Given the description of an element on the screen output the (x, y) to click on. 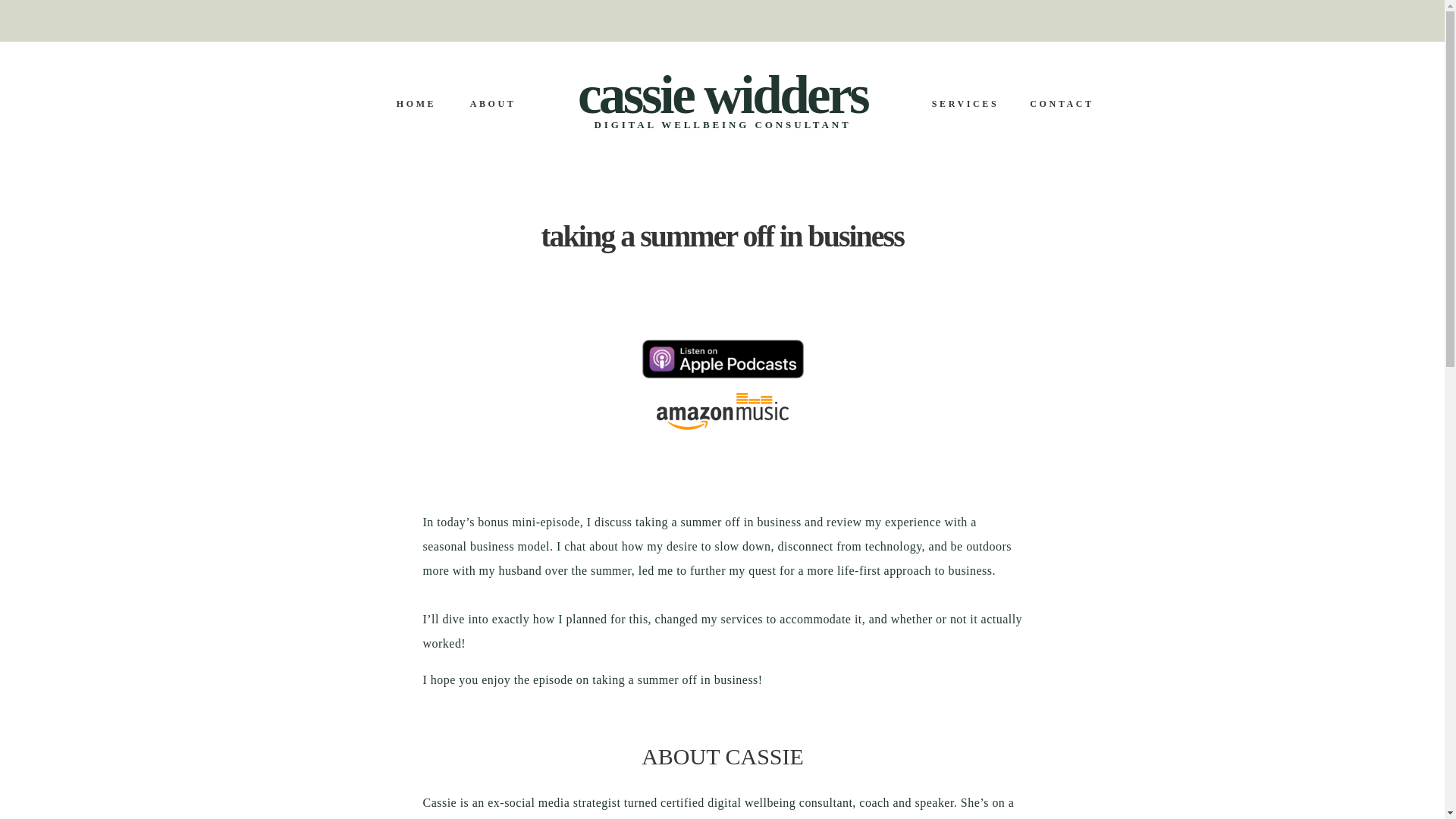
CONTACT (1061, 102)
SERVICES (965, 102)
ABOUT (492, 102)
HOME (416, 102)
cassie widders (722, 91)
